Given the description of an element on the screen output the (x, y) to click on. 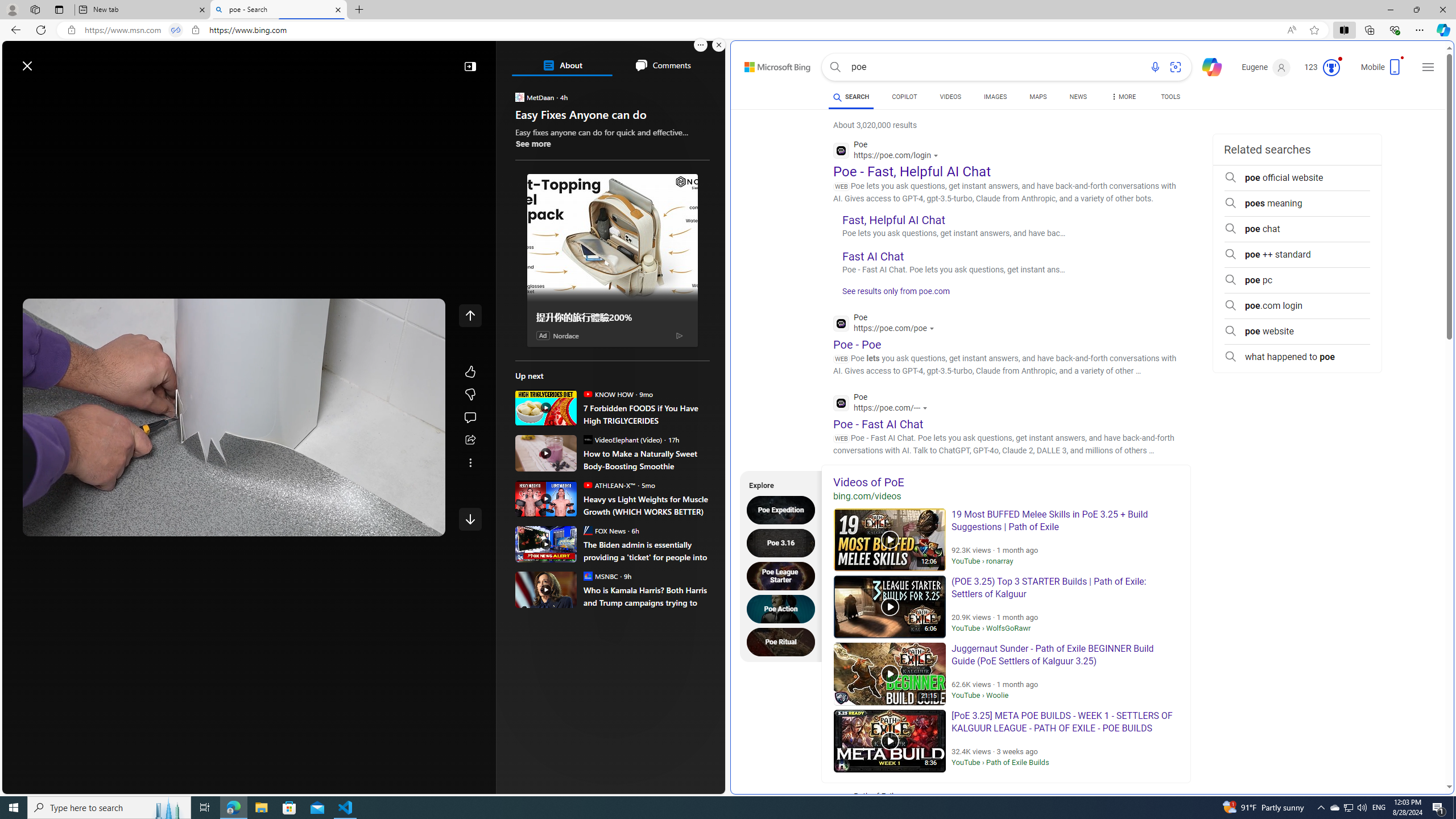
SEARCH (850, 96)
poe ++ standard (1297, 254)
MORE (1123, 98)
Search button (835, 66)
Global web icon (841, 402)
Mobile (1382, 70)
